Given the description of an element on the screen output the (x, y) to click on. 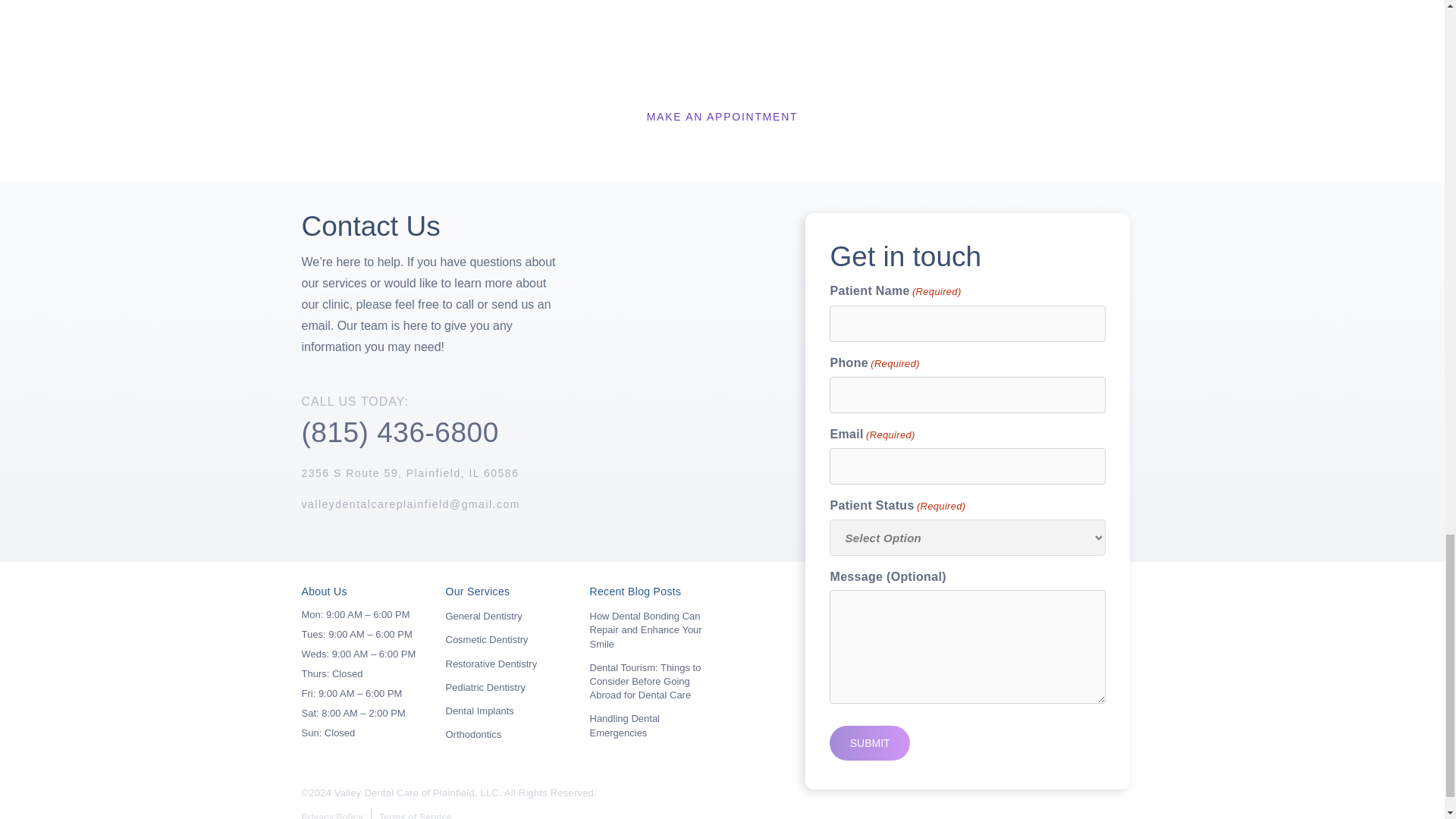
Pediatric Dentistry (485, 686)
Orthodontics (473, 734)
Handling Dental Emergencies (625, 724)
How Dental Bonding Can Repair and Enhance Your Smile (645, 629)
Dental Implants (479, 710)
Cosmetic Dentistry (486, 639)
General Dentistry (483, 615)
MAKE AN APPOINTMENT (721, 117)
Restorative Dentistry (491, 663)
